Given the description of an element on the screen output the (x, y) to click on. 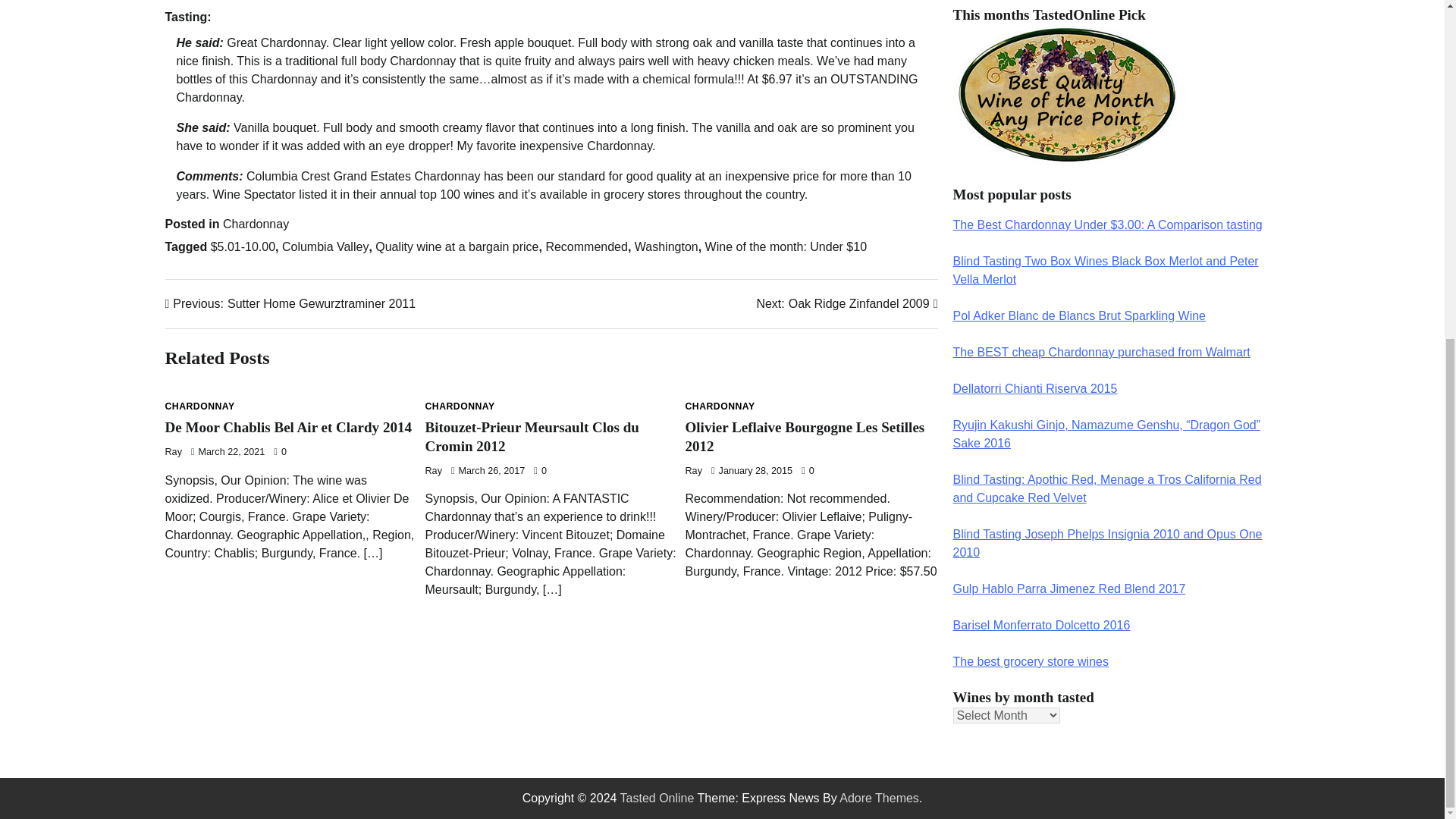
De Moor Chablis Bel Air et Clardy 2014 (290, 303)
Bitouzet-Prieur Meursault Clos du Cromin 2012 (288, 426)
Ray (532, 436)
Chardonnay (173, 451)
CHARDONNAY (255, 223)
Recommended (720, 406)
CHARDONNAY (846, 303)
CHARDONNAY (585, 246)
Olivier Leflaive Bourgogne Les Setilles 2012 (460, 406)
Ray (199, 406)
Columbia Valley (804, 436)
Washington (433, 470)
Quality wine at a bargain price (325, 246)
